Given the description of an element on the screen output the (x, y) to click on. 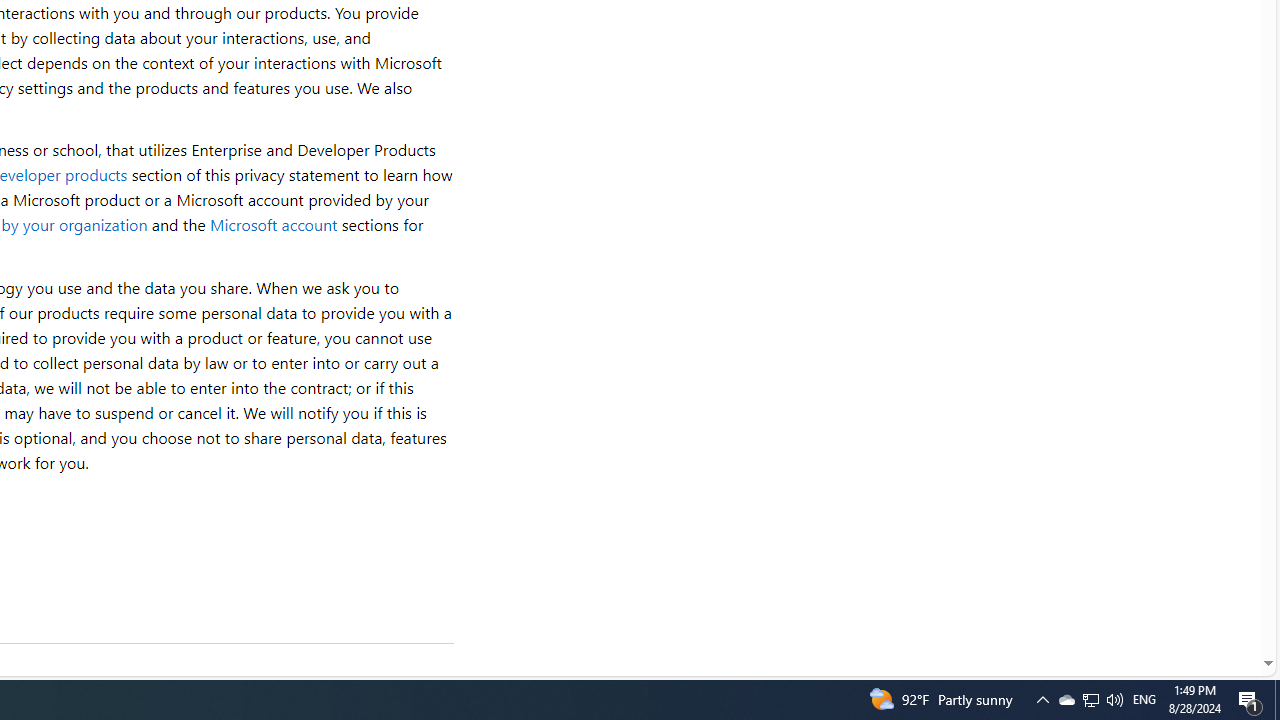
Microsoft account (273, 224)
